Given the description of an element on the screen output the (x, y) to click on. 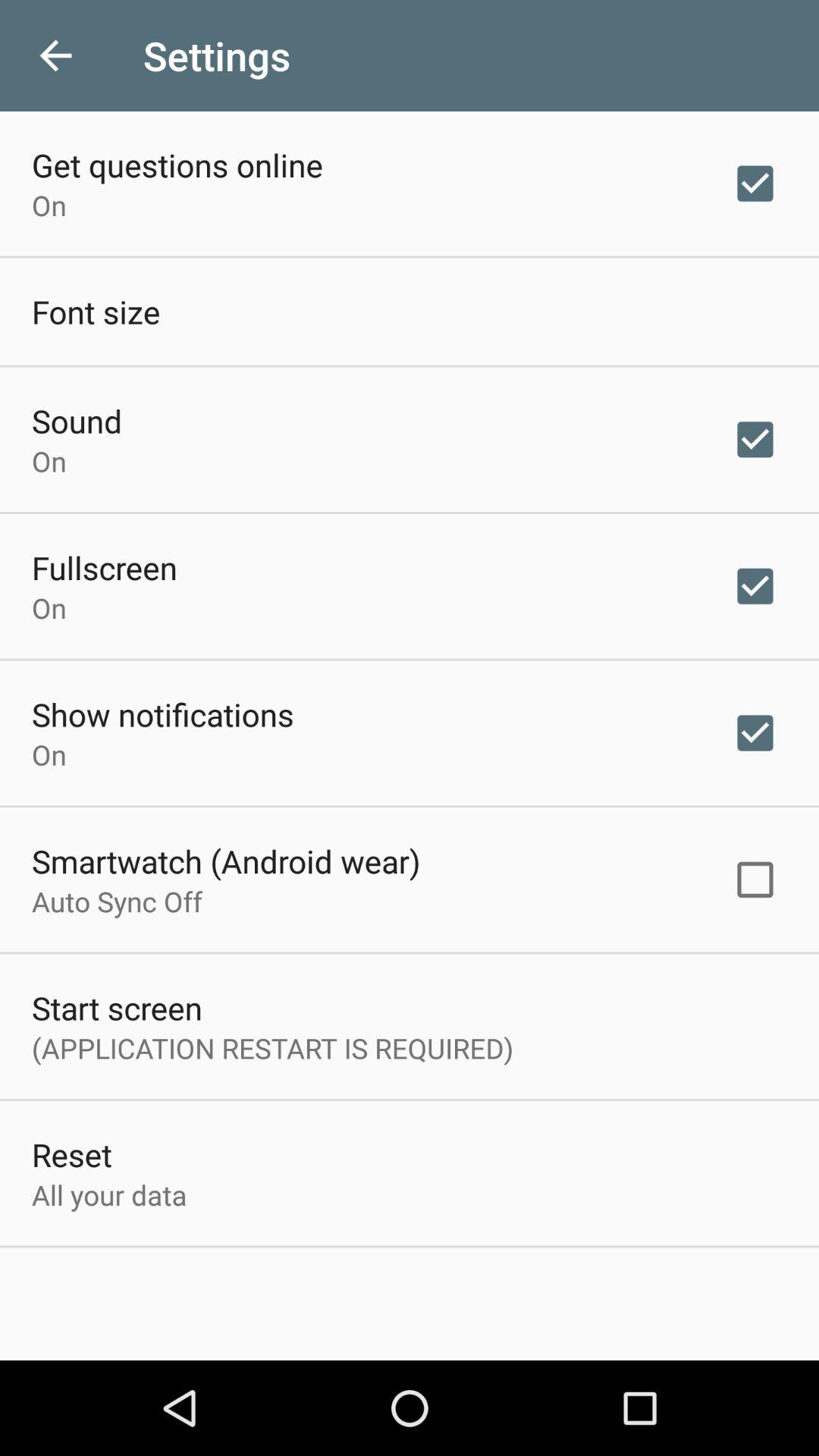
launch the item below on (162, 713)
